Given the description of an element on the screen output the (x, y) to click on. 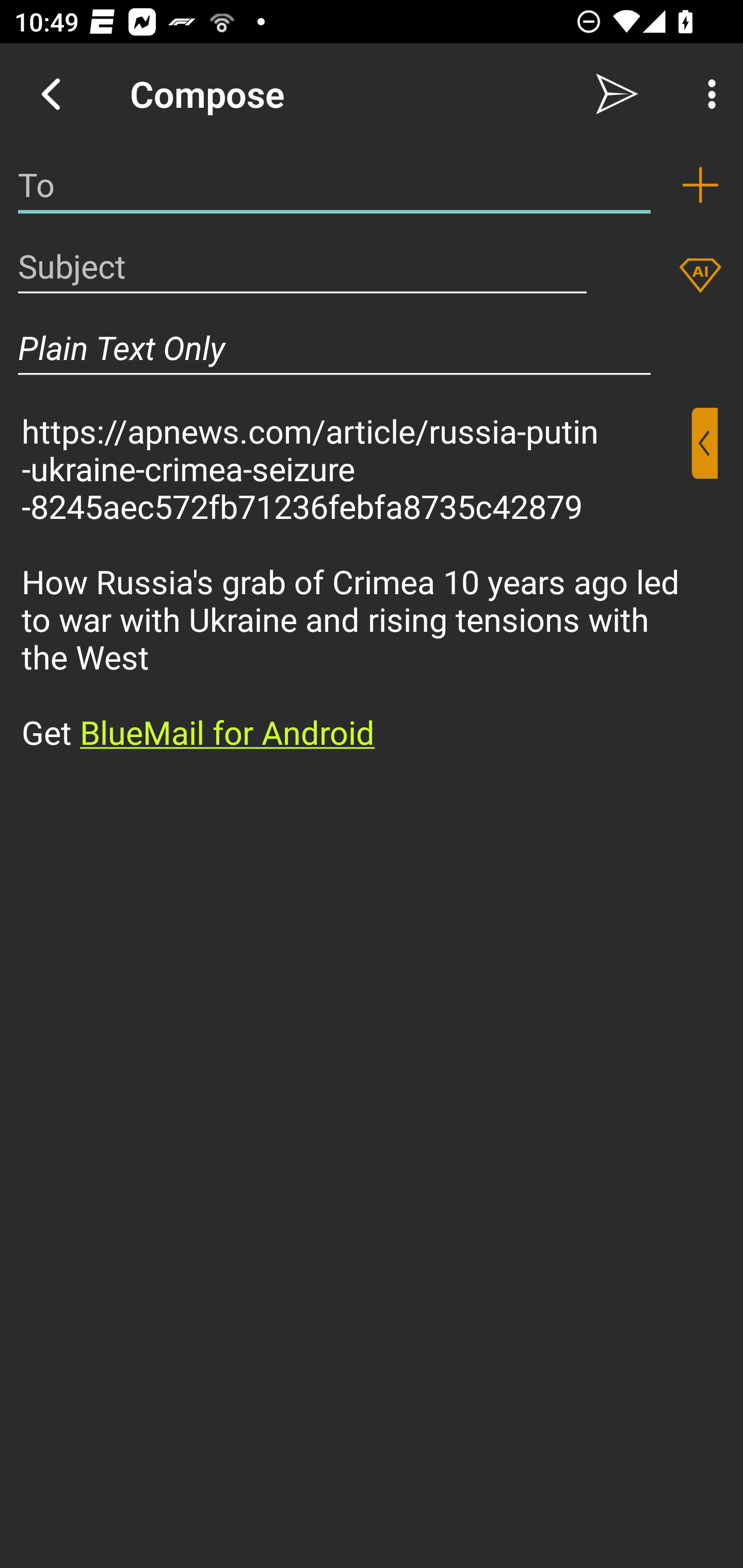
Navigate up (50, 93)
Send (616, 93)
More Options (706, 93)
To (334, 184)
Add recipient (To) (699, 184)
Subject (302, 266)
Plain Text Only (334, 347)
